Given the description of an element on the screen output the (x, y) to click on. 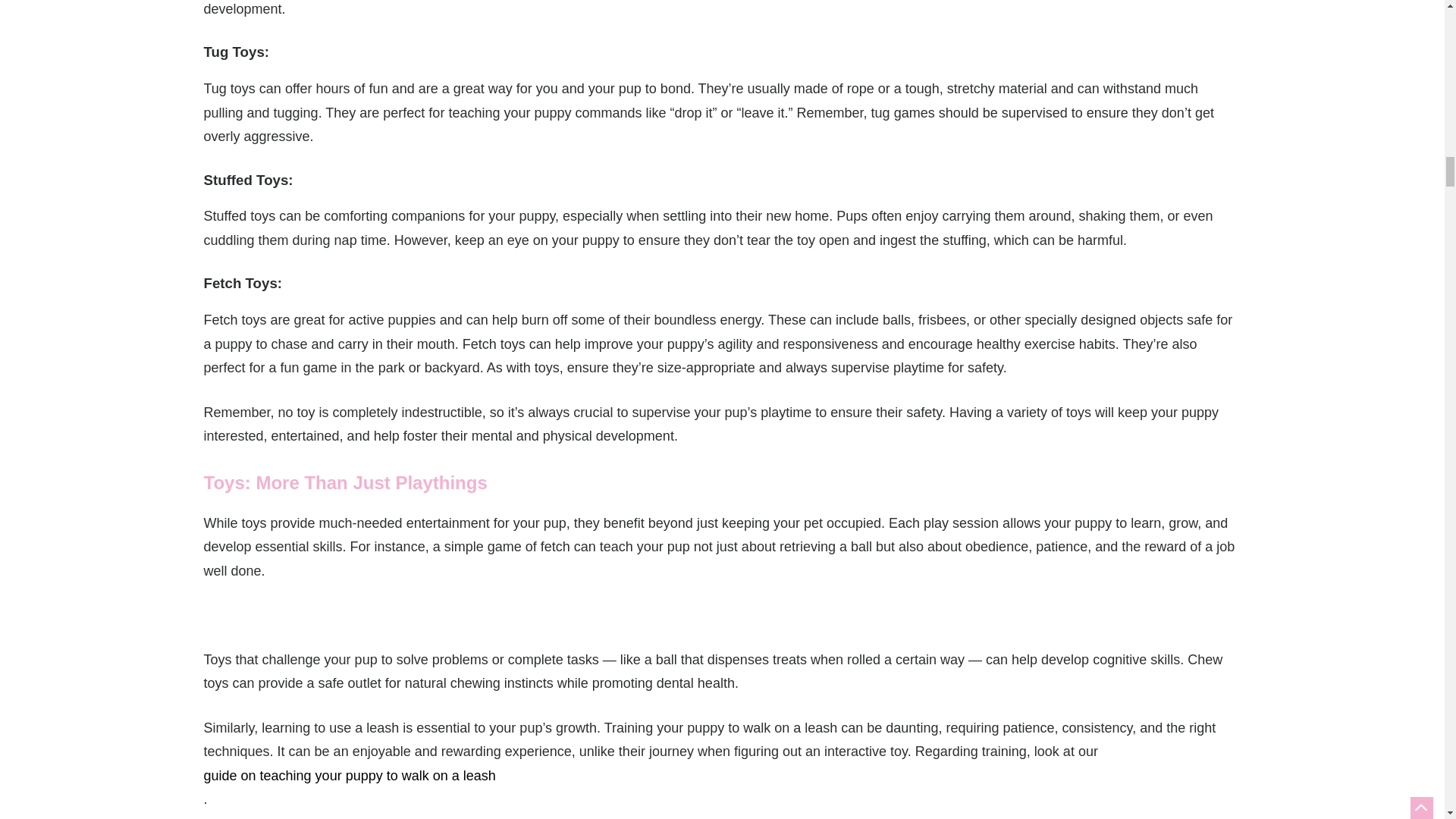
guide on teaching your puppy to walk on a leash (721, 776)
